Given the description of an element on the screen output the (x, y) to click on. 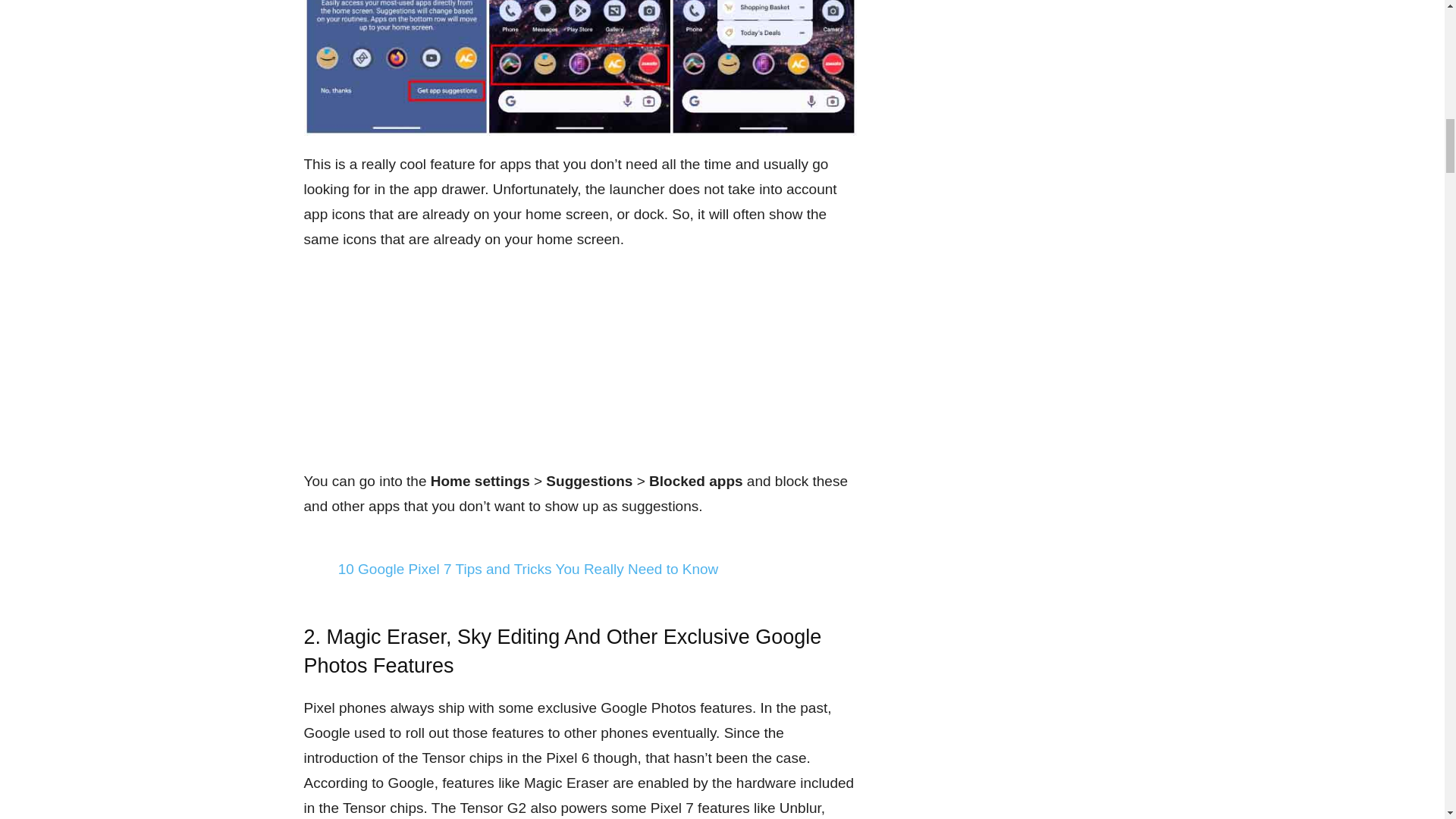
10 Google Pixel 7 Tips and Tricks You Really Need to Know (528, 569)
